Given the description of an element on the screen output the (x, y) to click on. 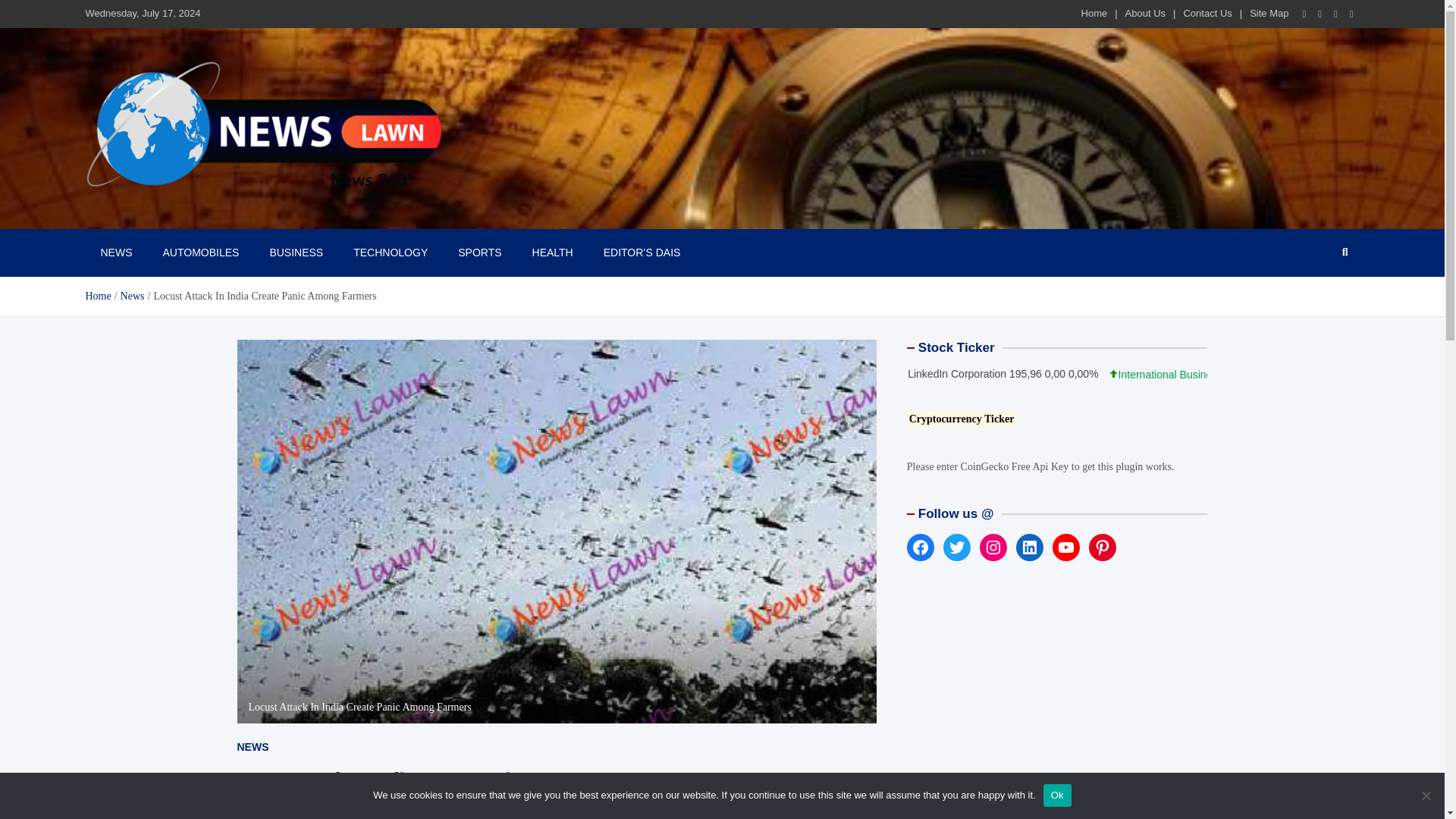
Facebook (1305, 13)
Home (97, 296)
AUTOMOBILES (200, 252)
NEWS (115, 252)
Instagram (1319, 13)
Twitter (1335, 13)
Pinterest (1102, 547)
HEALTH (552, 252)
NEWS (251, 746)
News Lawn (144, 212)
LinkedIn (1029, 547)
TECHNOLOGY (389, 252)
Locust Attack In India Create Panic Among Farmers (268, 806)
SPORTS (479, 252)
Instagram (993, 547)
